Given the description of an element on the screen output the (x, y) to click on. 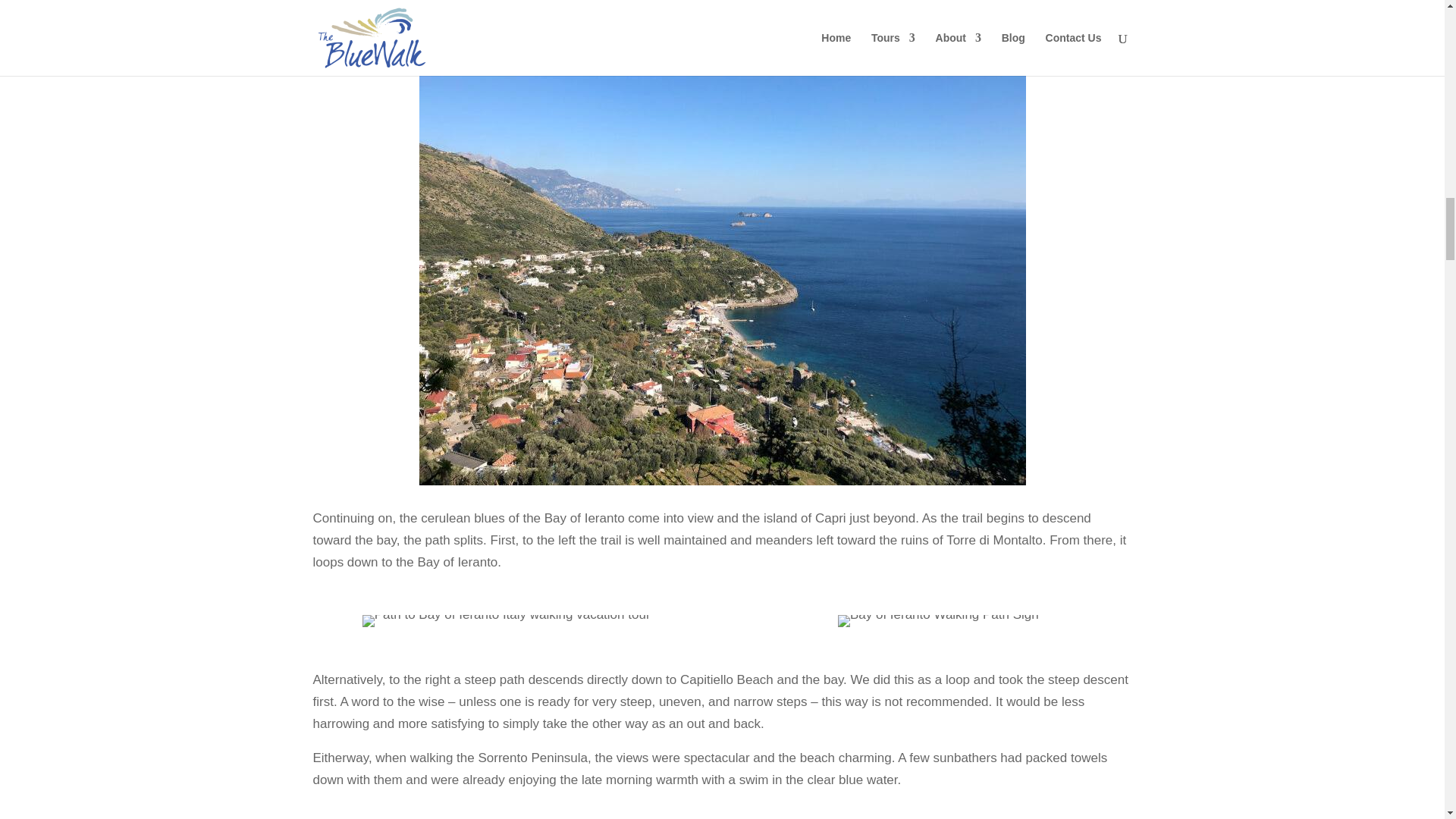
Path to Ieranto (506, 621)
Bay of Ieranto Walking Path Sign (938, 621)
